Given the description of an element on the screen output the (x, y) to click on. 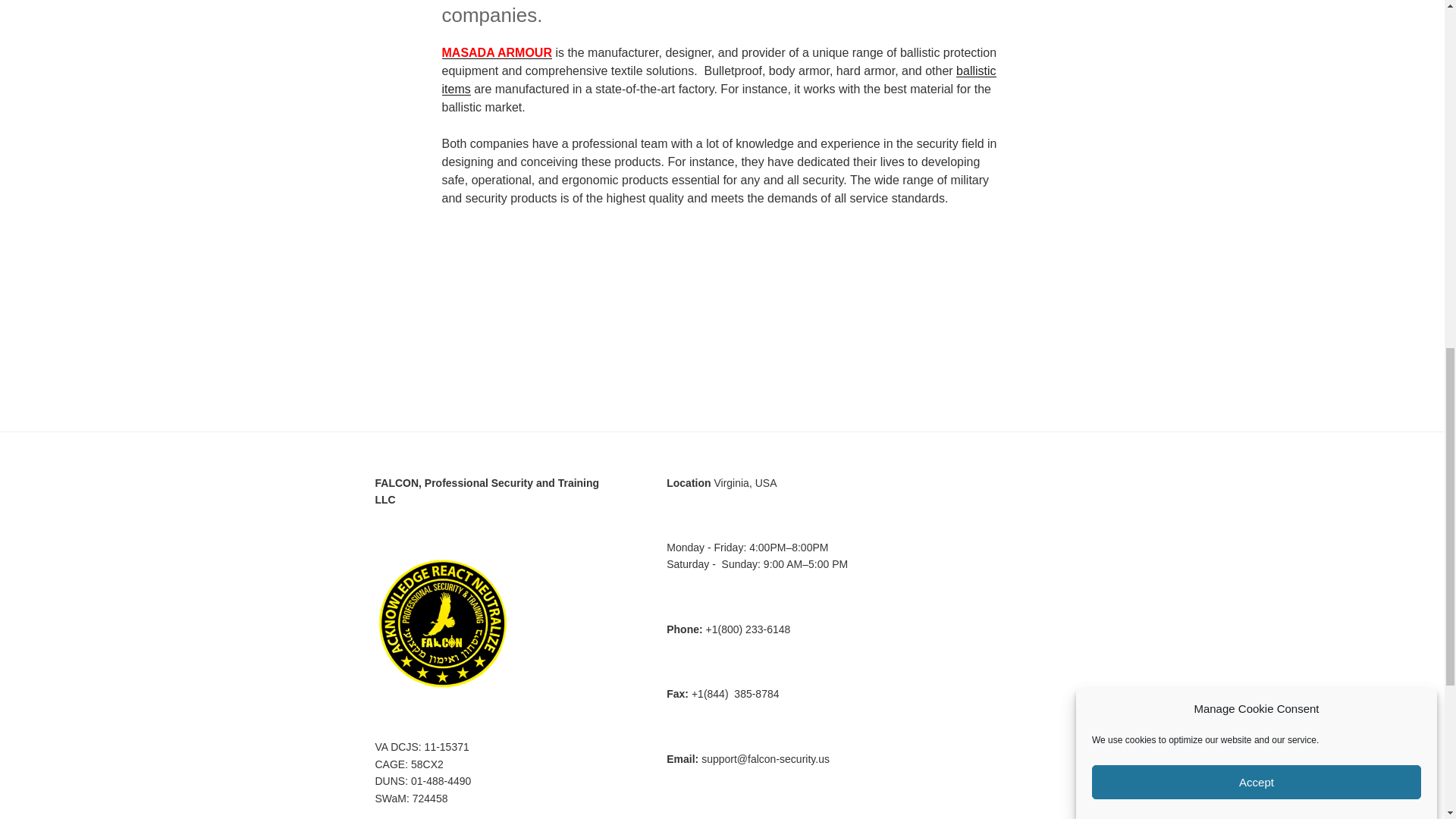
Masada Armour Logo (500, 284)
marom dolphin logo (781, 284)
